Given the description of an element on the screen output the (x, y) to click on. 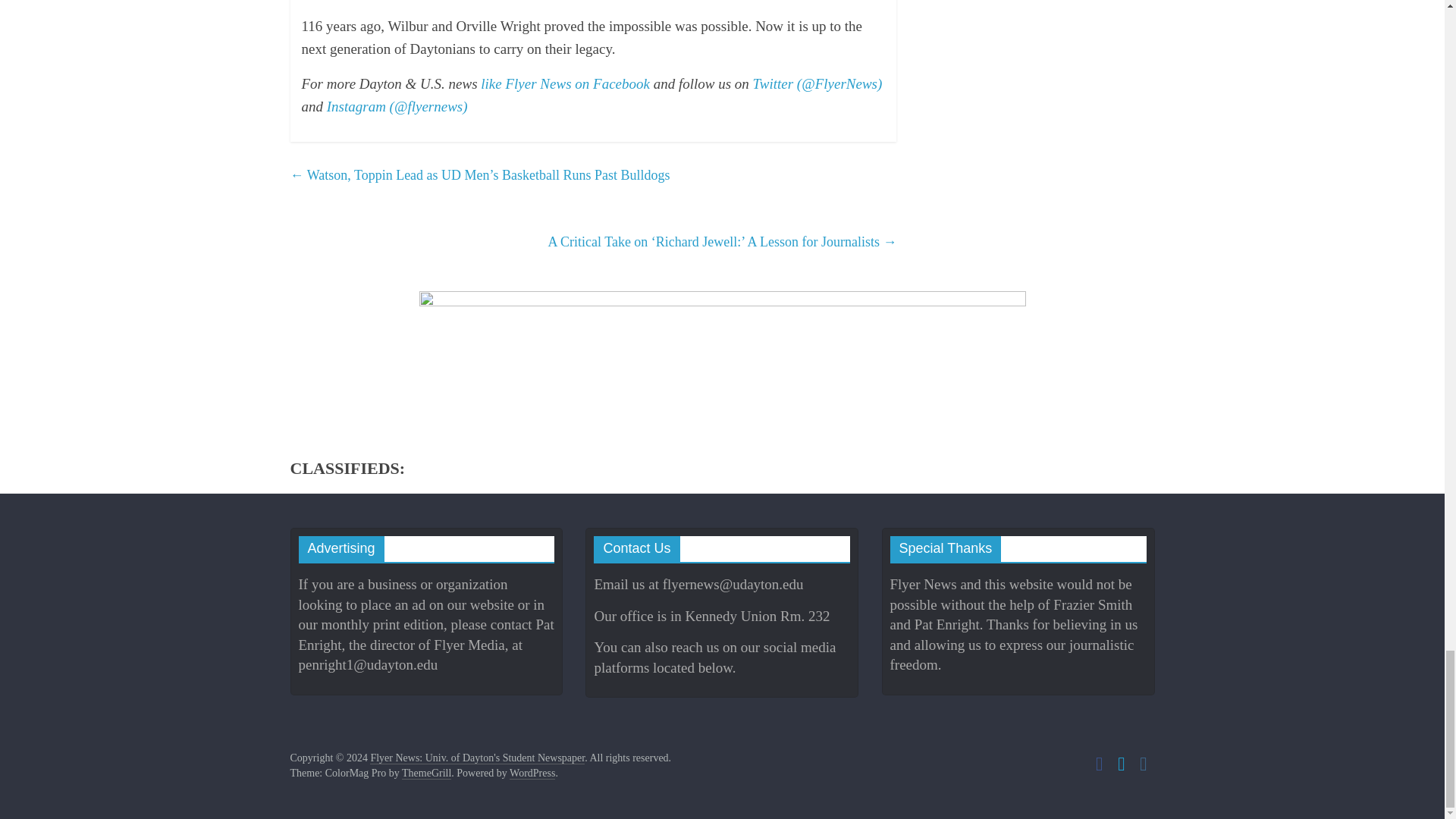
Flyer News: Univ. of Dayton's Student Newspaper (477, 758)
ThemeGrill (426, 773)
WordPress (531, 773)
